Given the description of an element on the screen output the (x, y) to click on. 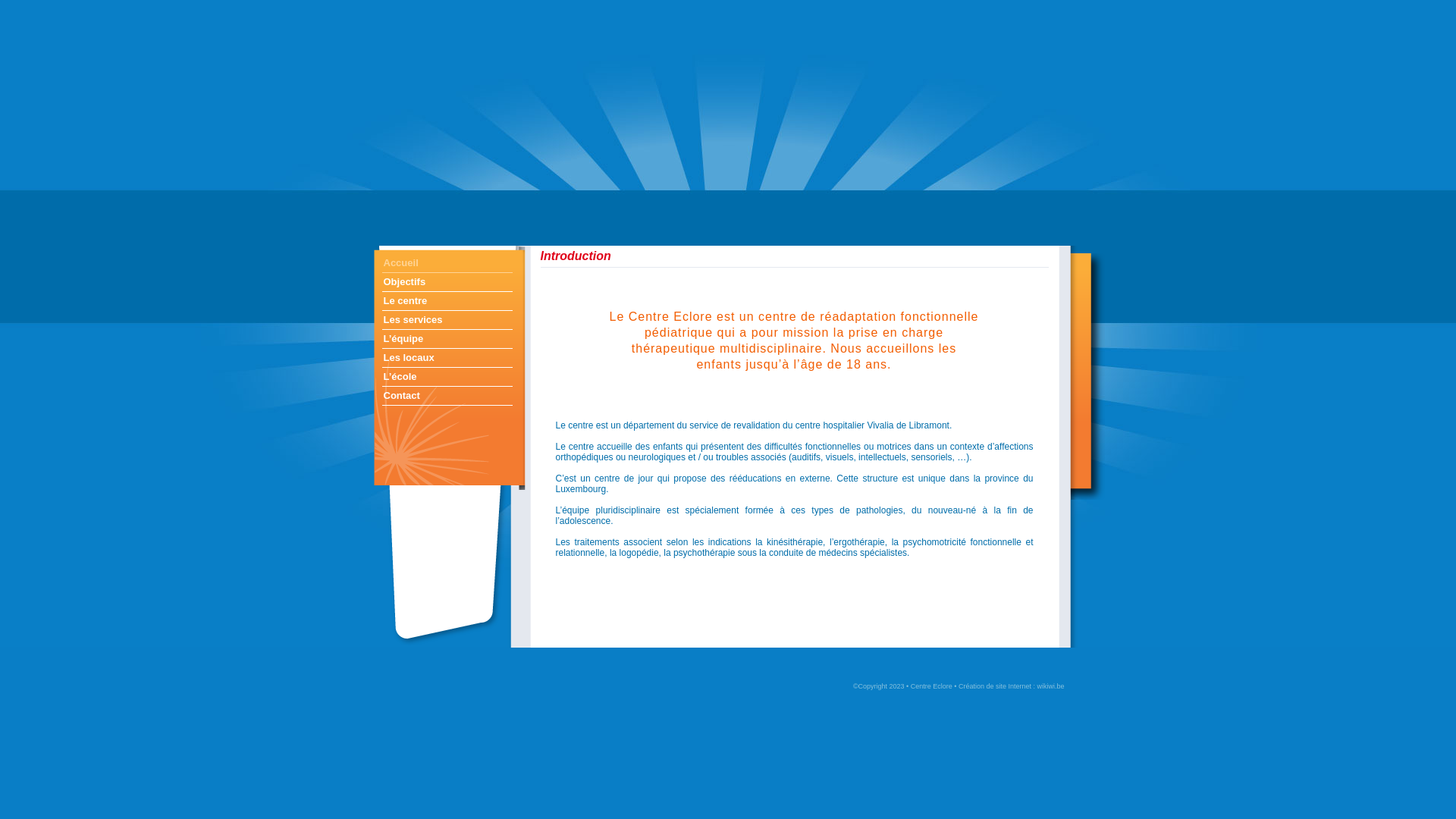
Contact Element type: text (447, 397)
Accueil Element type: text (447, 264)
Les locaux Element type: text (447, 359)
Les services Element type: text (447, 321)
Le centre Element type: text (447, 302)
Objectifs Element type: text (447, 283)
